Given the description of an element on the screen output the (x, y) to click on. 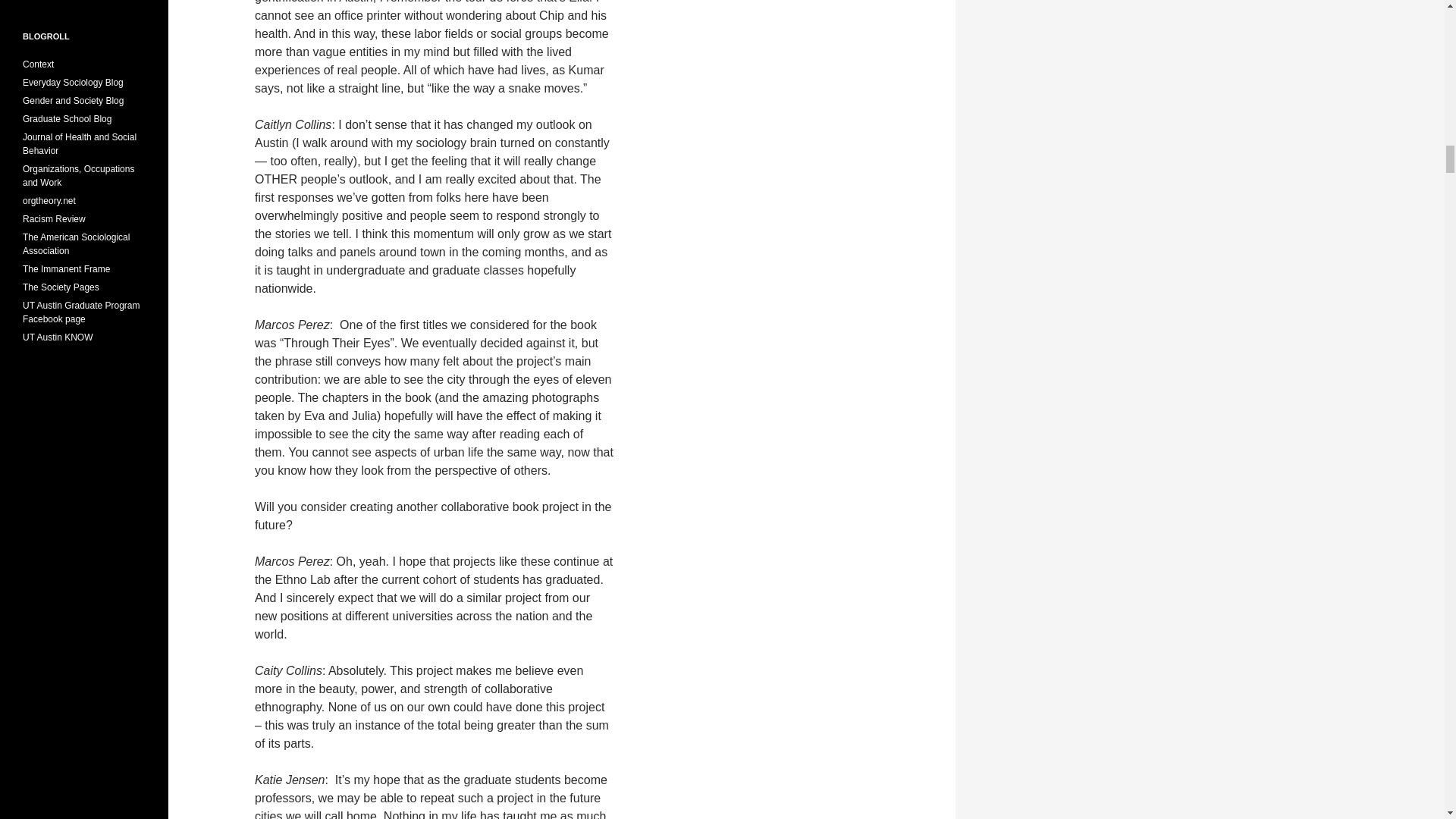
A Section of the American Sociological Association  (78, 175)
